Given the description of an element on the screen output the (x, y) to click on. 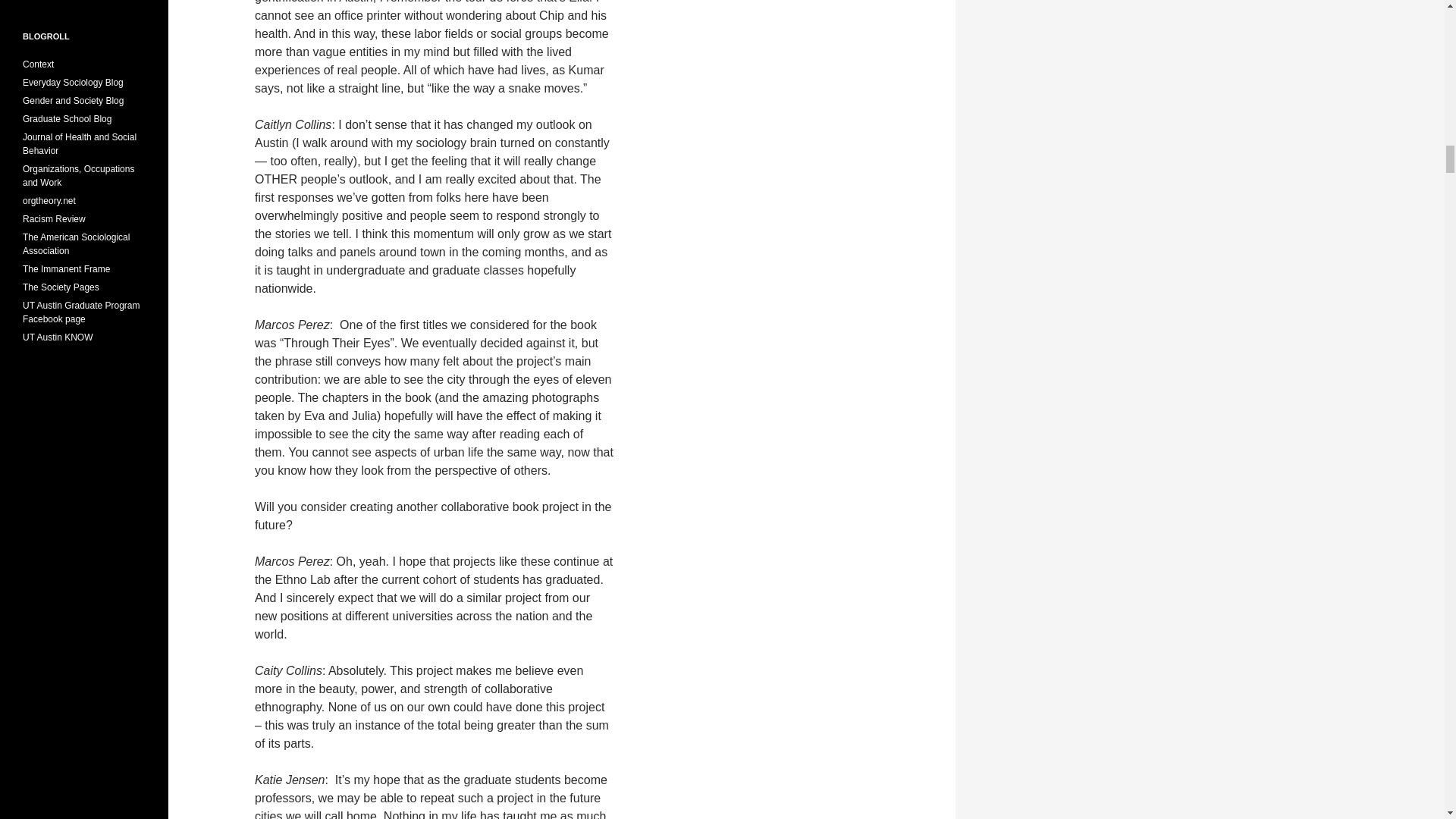
A Section of the American Sociological Association  (78, 175)
